Given the description of an element on the screen output the (x, y) to click on. 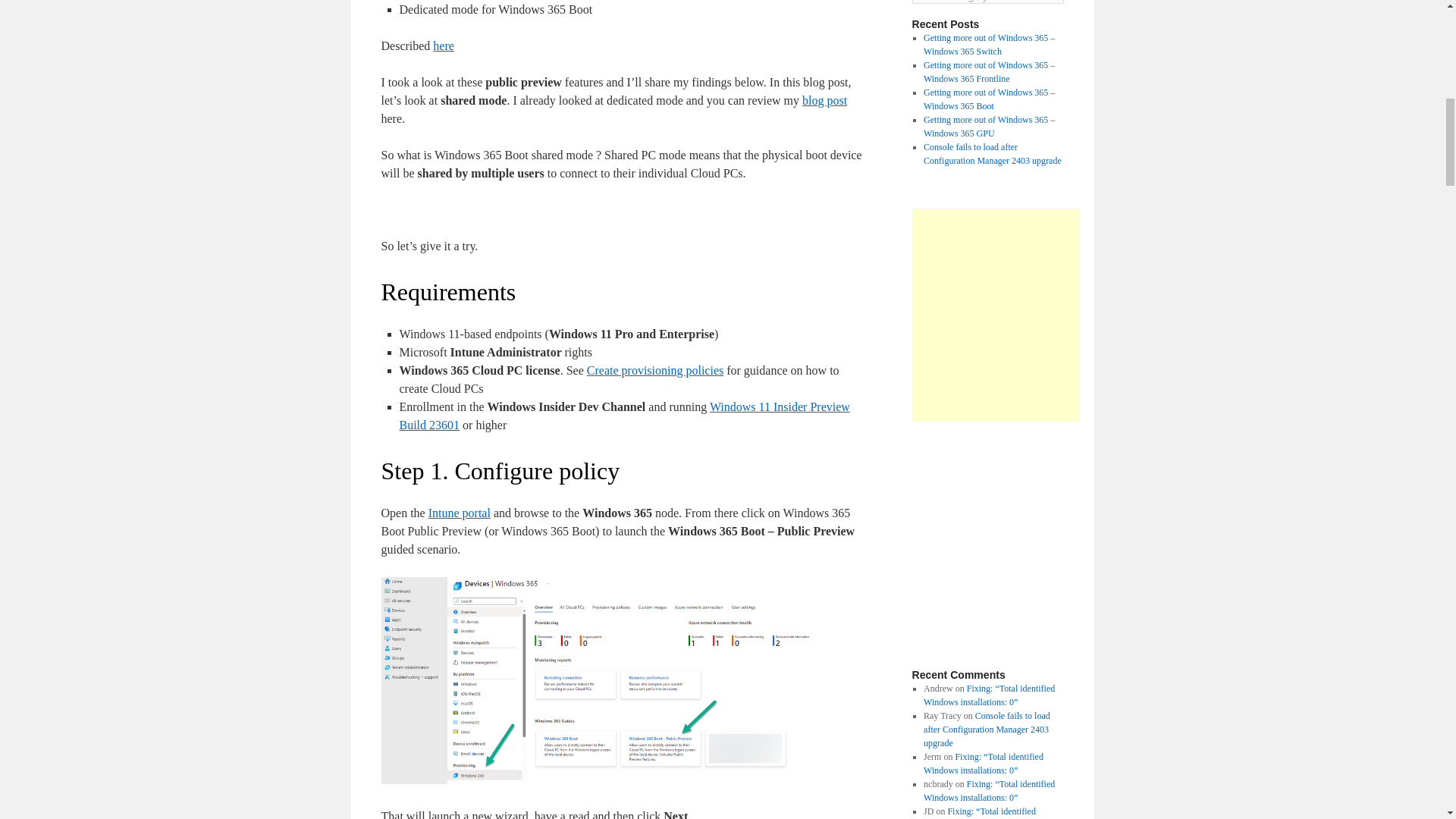
Advertisement (1038, 544)
Create provisioning policies (654, 369)
here (443, 45)
Intune portal (459, 512)
blog post (824, 100)
Windows 11 Insider Preview Build 23601 (623, 415)
